Given the description of an element on the screen output the (x, y) to click on. 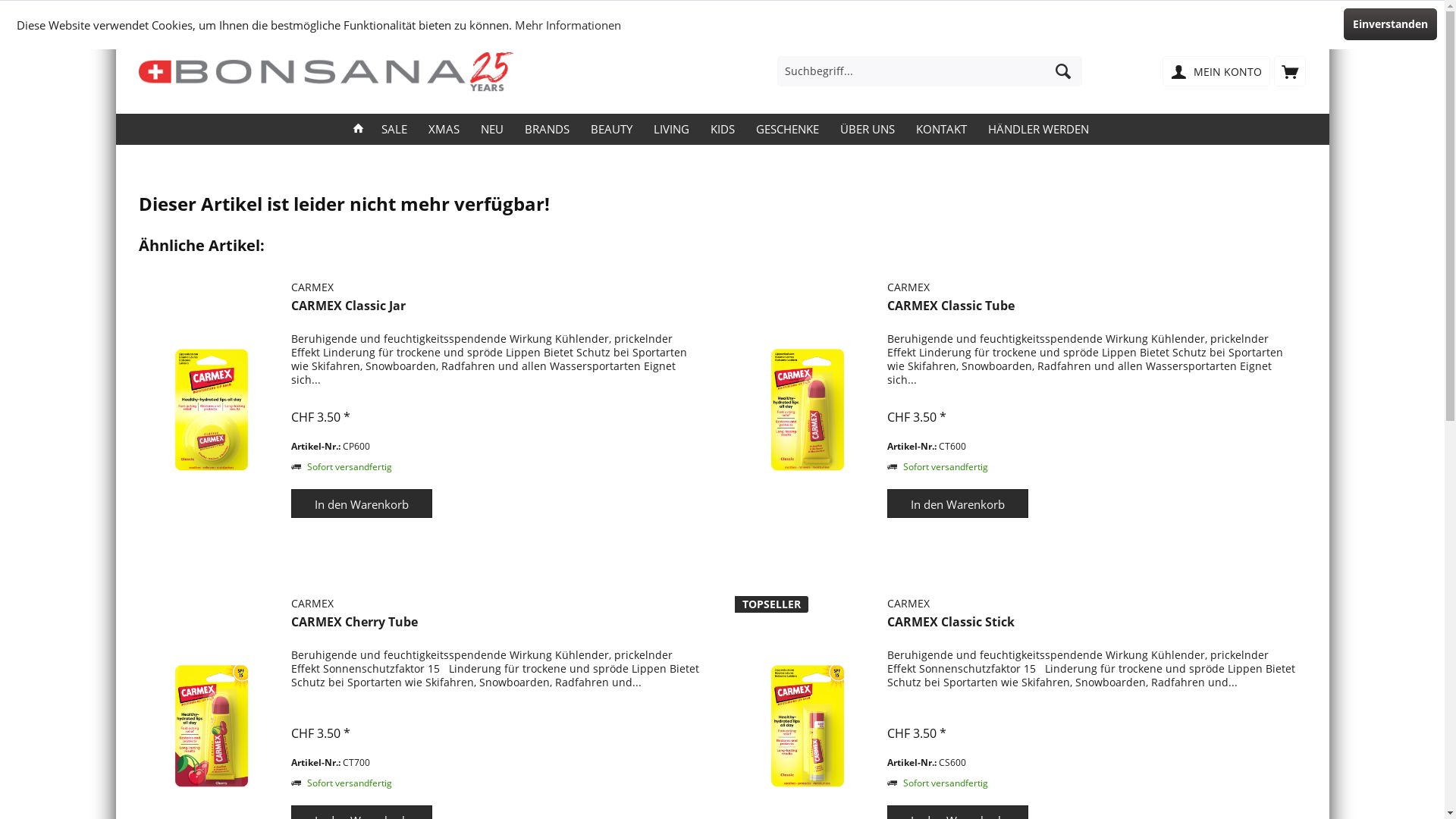
In den Warenkorb Element type: text (361, 503)
LIVING Element type: text (671, 128)
Inhalt Element type: hover (496, 401)
NEU Element type: text (492, 128)
CARMEX Classic Stick Element type: hover (807, 726)
CARMEX Classic Tube Element type: hover (807, 409)
XMAS Element type: text (443, 128)
Mehr Informationen Element type: text (567, 24)
CARMEX Classic Jar Element type: hover (211, 409)
BONSANA AG - zur Startseite wechseln Element type: hover (327, 71)
CARMEX Element type: text (496, 286)
CARMEX Classic Tube Element type: text (1092, 313)
CARMEX Classic Tube Element type: hover (807, 409)
CARMEX Cherry Tube Element type: hover (211, 726)
Home Element type: hover (357, 128)
BEAUTY Element type: text (610, 128)
BRANDS Element type: text (547, 128)
KIDS Element type: text (721, 128)
Inhalt Element type: hover (496, 717)
GESCHENKE Element type: text (786, 128)
Warenkorb Element type: hover (1289, 71)
Einverstanden Element type: text (1390, 24)
Inhalt Element type: hover (1092, 401)
CARMEX Classic Jar Element type: hover (211, 409)
CARMEX Classic Jar Element type: text (496, 313)
CARMEX Element type: text (1092, 603)
CARMEX Classic Stick Element type: text (1092, 629)
SALE Element type: text (393, 128)
CARMEX Element type: text (1092, 286)
CARMEX Element type: text (496, 603)
KONTAKT Element type: text (941, 128)
CARMEX Cherry Tube Element type: text (496, 629)
In den Warenkorb Element type: text (957, 503)
Inhalt Element type: hover (1092, 717)
